Given the description of an element on the screen output the (x, y) to click on. 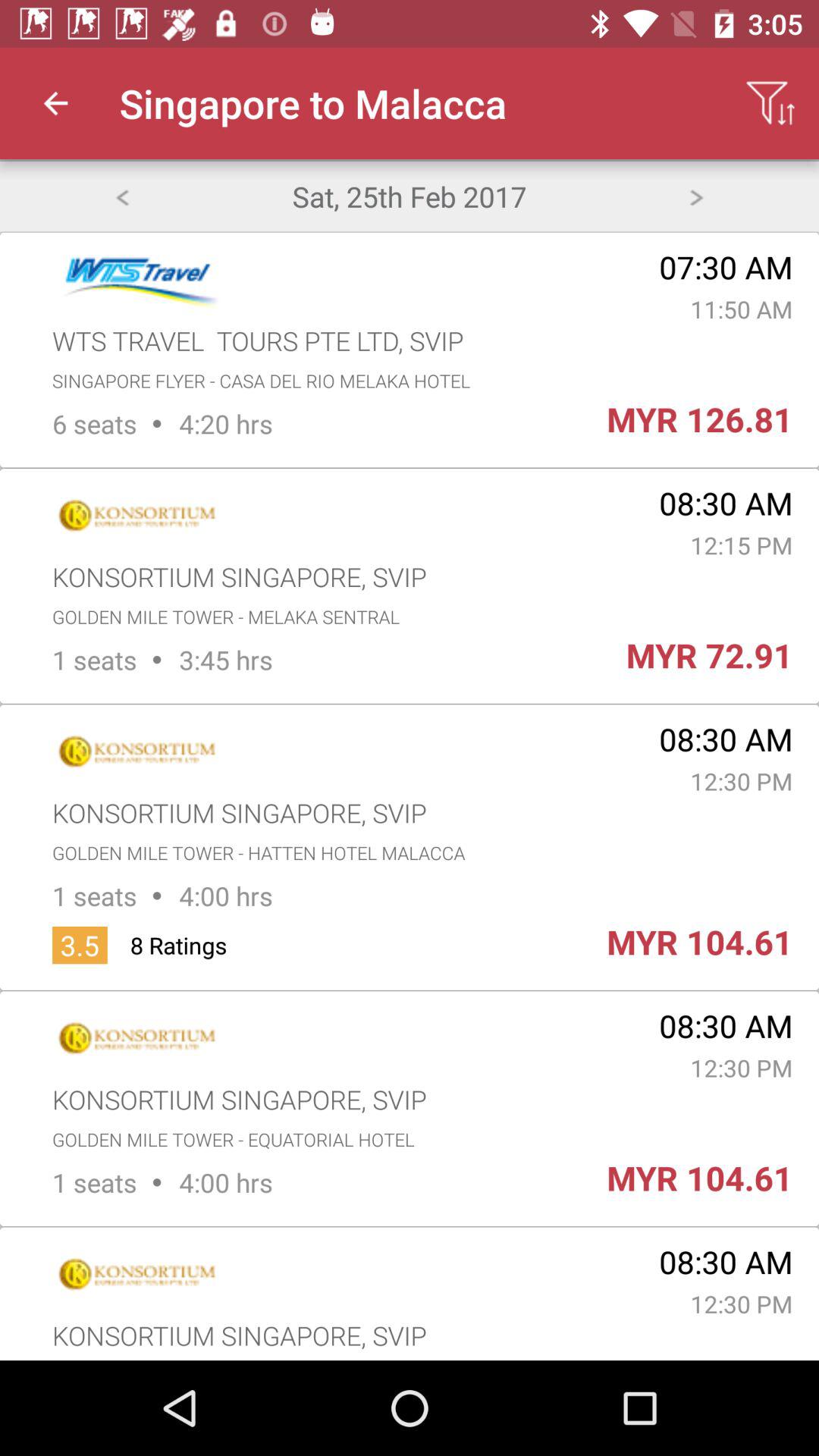
select app next to the singapore to malacca app (55, 103)
